Given the description of an element on the screen output the (x, y) to click on. 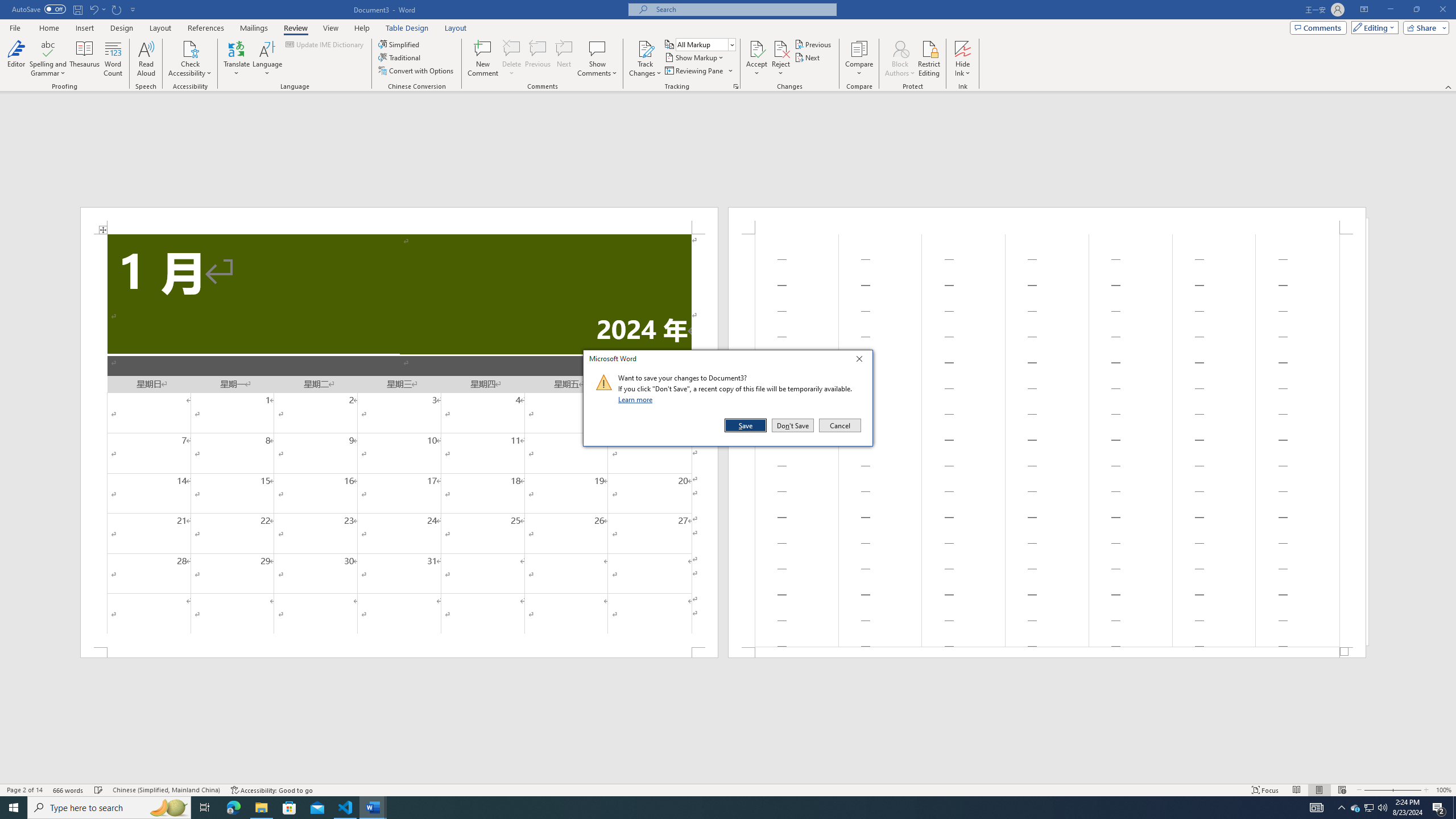
Compare (859, 58)
Traditional (400, 56)
Hide Ink (962, 48)
Accept and Move to Next (756, 48)
Update IME Dictionary... (324, 44)
Cancel (839, 425)
Show Markup (695, 56)
